Given the description of an element on the screen output the (x, y) to click on. 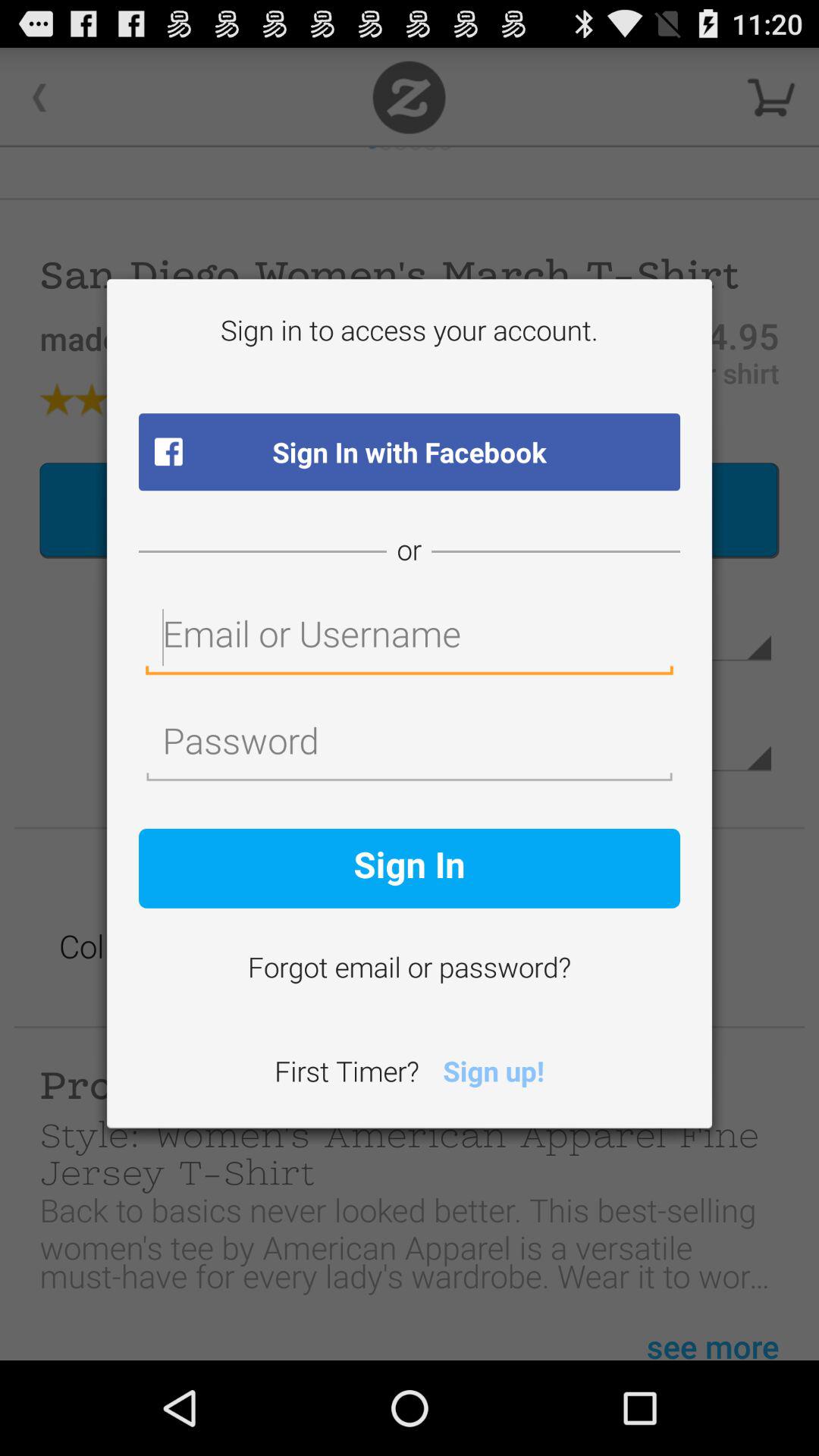
scroll until the forgot email or (409, 970)
